Given the description of an element on the screen output the (x, y) to click on. 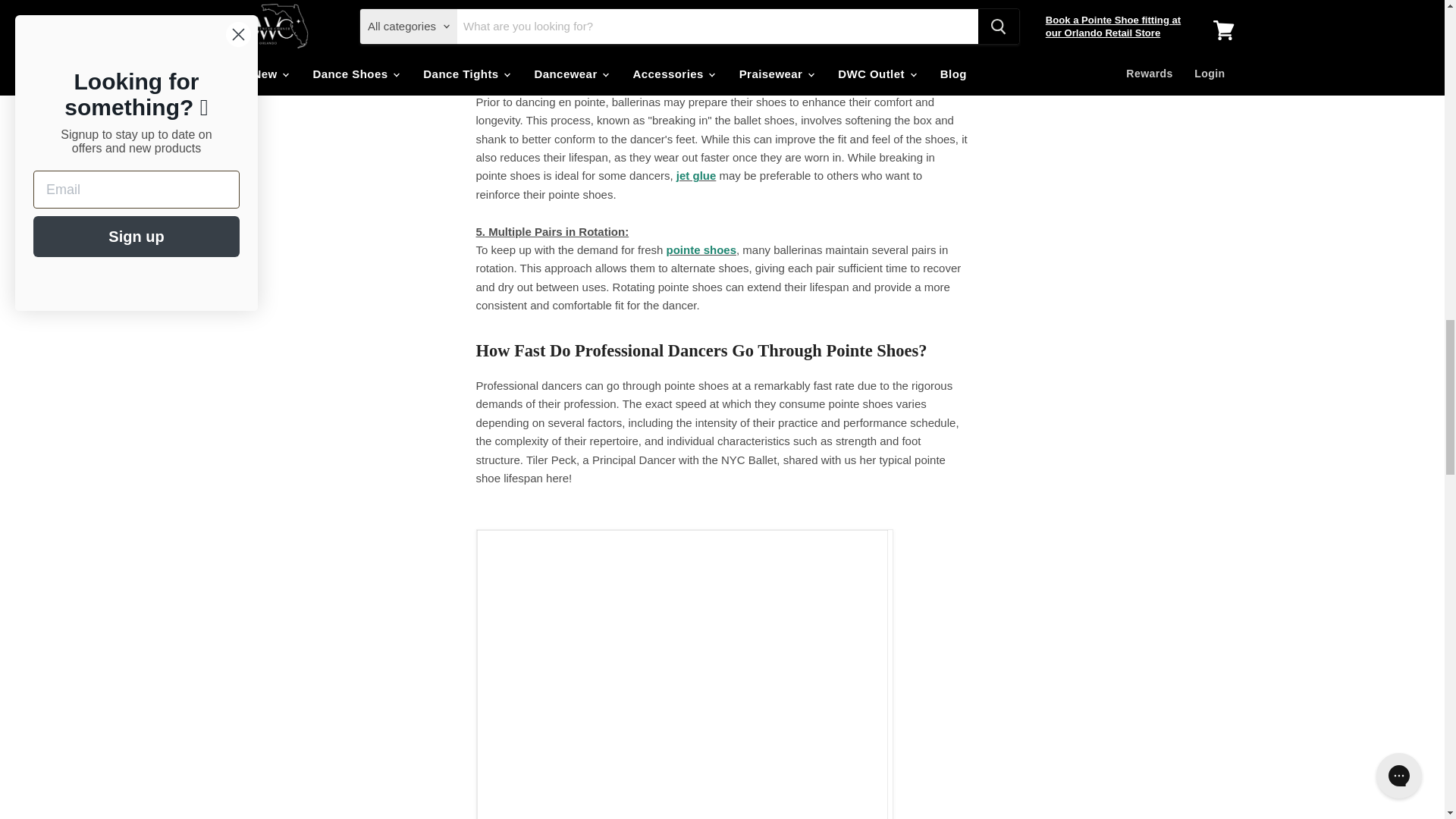
YouTube video player (682, 679)
jet glue (696, 174)
pointe shoes (700, 249)
